Given the description of an element on the screen output the (x, y) to click on. 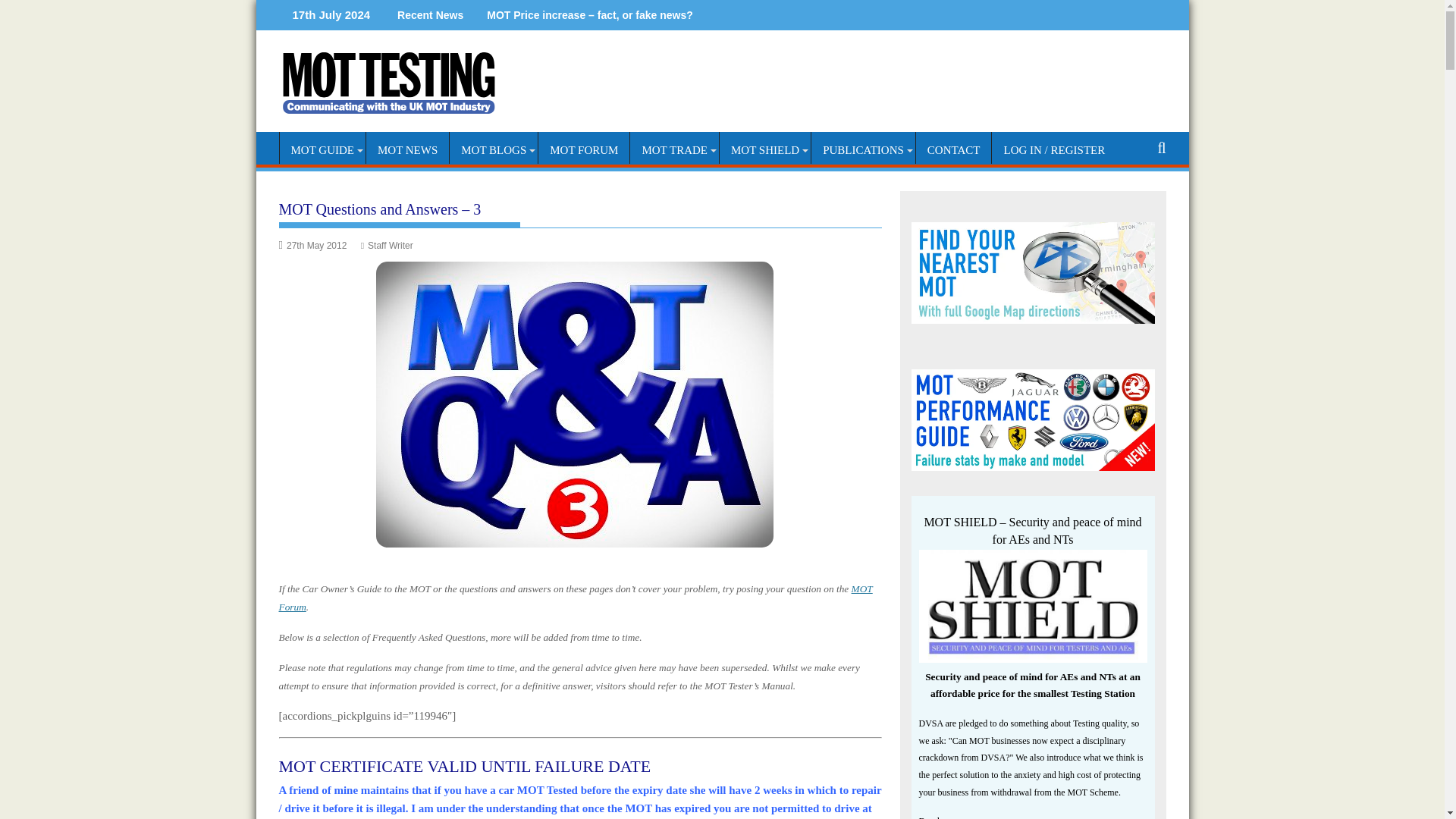
Advertisement (864, 94)
MOT GUIDE (322, 149)
MOT TRADE (674, 149)
MOT SHIELD (764, 149)
MOT NEWS (407, 149)
Blogs from MOT Industry professionals (493, 149)
MOT news for the motoring public (407, 149)
MOT BLOGS (493, 149)
MOT FORUM (583, 149)
PUBLICATIONS (862, 149)
